Given the description of an element on the screen output the (x, y) to click on. 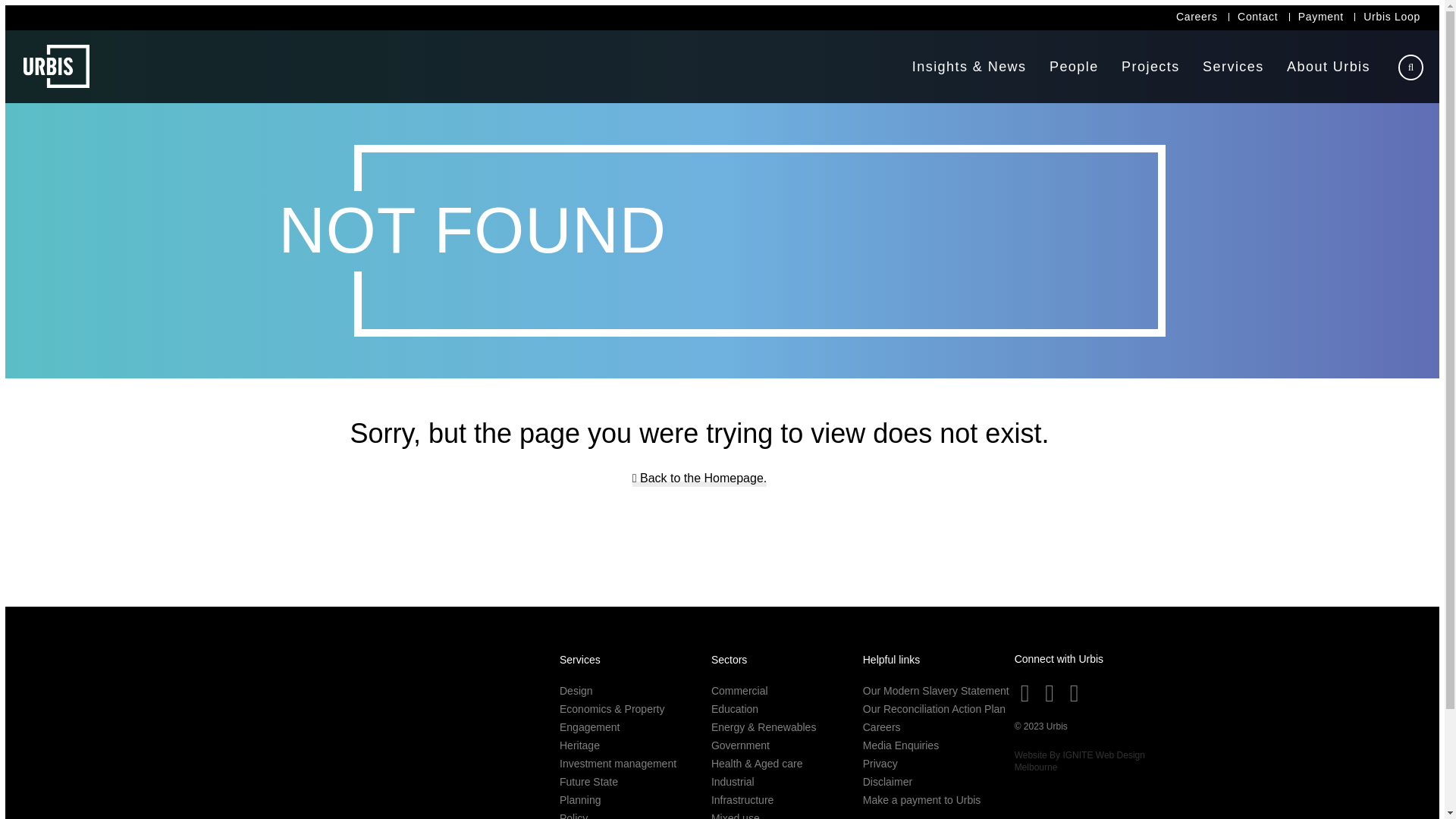
Infrastructure Element type: text (742, 799)
Energy & Renewables Element type: text (763, 727)
Services Element type: text (579, 659)
IGNITE Web Design Melbourne Element type: text (1079, 760)
Health & Aged care Element type: text (757, 763)
Our Reconciliation Action Plan Element type: text (933, 708)
Projects Element type: text (1150, 66)
About Urbis Element type: text (1328, 66)
Careers Element type: text (881, 727)
Design Element type: text (576, 690)
Disclaimer Element type: text (887, 781)
Payment Element type: text (1320, 16)
Economics & Property Element type: text (612, 708)
Investment management Element type: text (617, 763)
Government Element type: text (740, 745)
Heritage Element type: text (579, 745)
Privacy Element type: text (879, 763)
Education Element type: text (734, 708)
Urbis Loop Element type: text (1391, 16)
Our Modern Slavery Statement Element type: text (935, 690)
Engagement Element type: text (589, 727)
Make a payment to Urbis Element type: text (921, 799)
Sectors Element type: text (728, 659)
People Element type: text (1073, 66)
Planning Element type: text (580, 799)
Insights & News Element type: text (969, 66)
Media Enquiries Element type: text (900, 745)
Careers Element type: text (1196, 16)
Contact Element type: text (1257, 16)
Industrial Element type: text (732, 781)
Future State Element type: text (588, 781)
Back to the Homepage. Element type: text (699, 478)
Services Element type: text (1233, 66)
Helpful links Element type: text (890, 659)
Commercial Element type: text (739, 690)
